Given the description of an element on the screen output the (x, y) to click on. 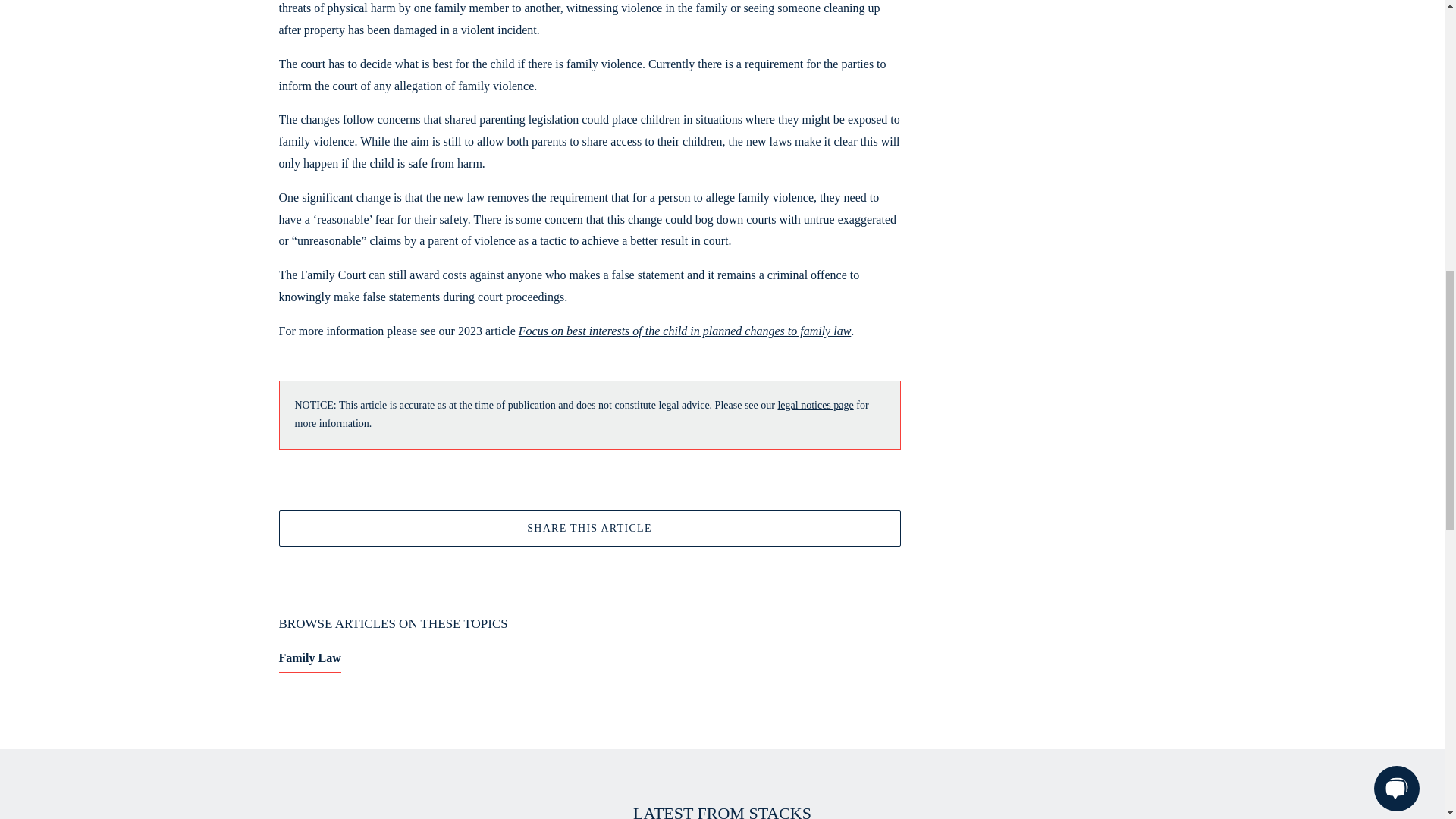
legal notices page (815, 405)
SHARE THIS ARTICLE (590, 519)
